Given the description of an element on the screen output the (x, y) to click on. 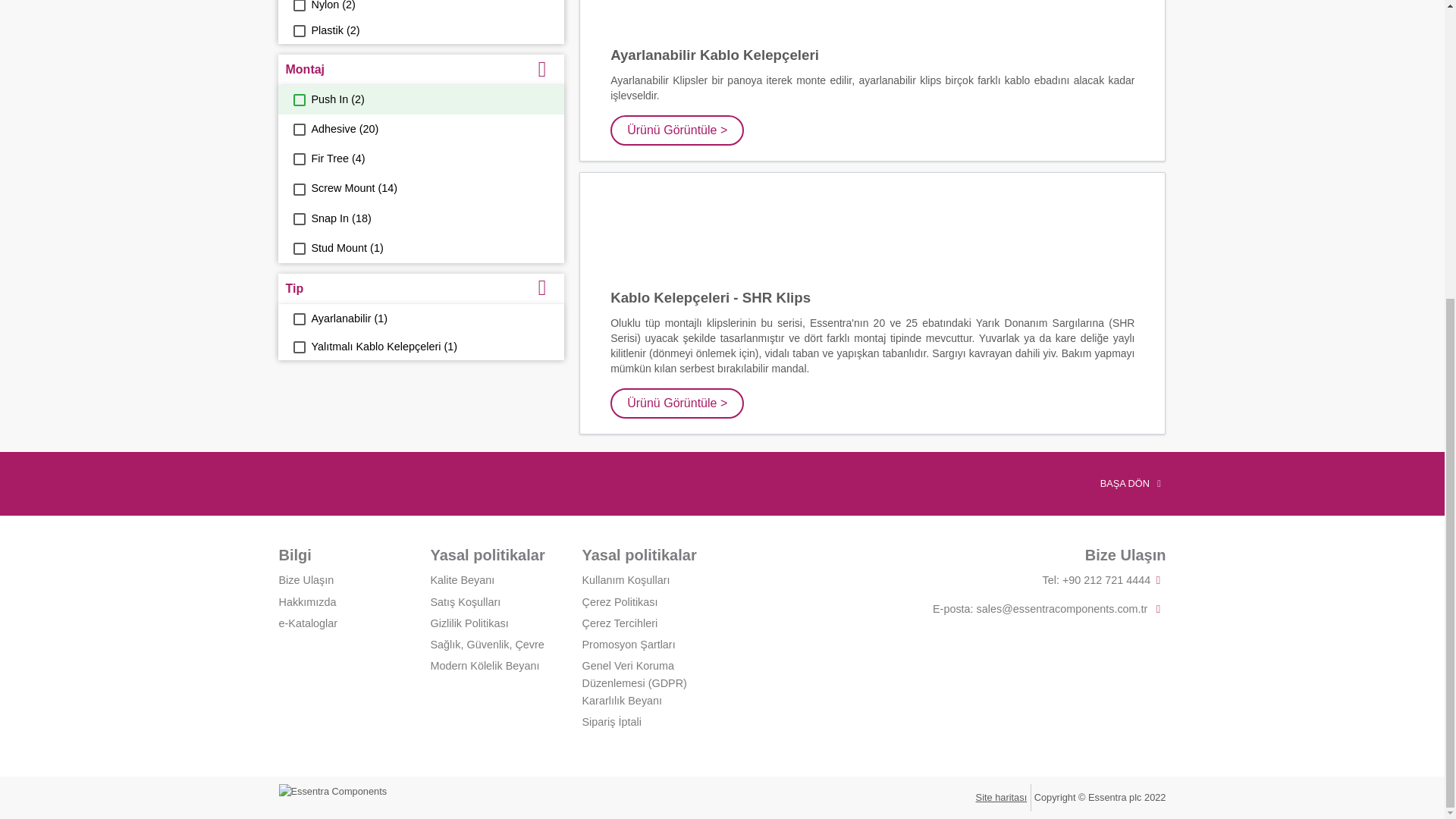
Stud Mount (298, 248)
Screw Mount (298, 188)
Fir Tree (298, 159)
Adhesive (298, 129)
Ayarlanabilir (298, 318)
Plastik (298, 30)
Nylon (298, 5)
Push In (298, 100)
Snap In (298, 218)
